Given the description of an element on the screen output the (x, y) to click on. 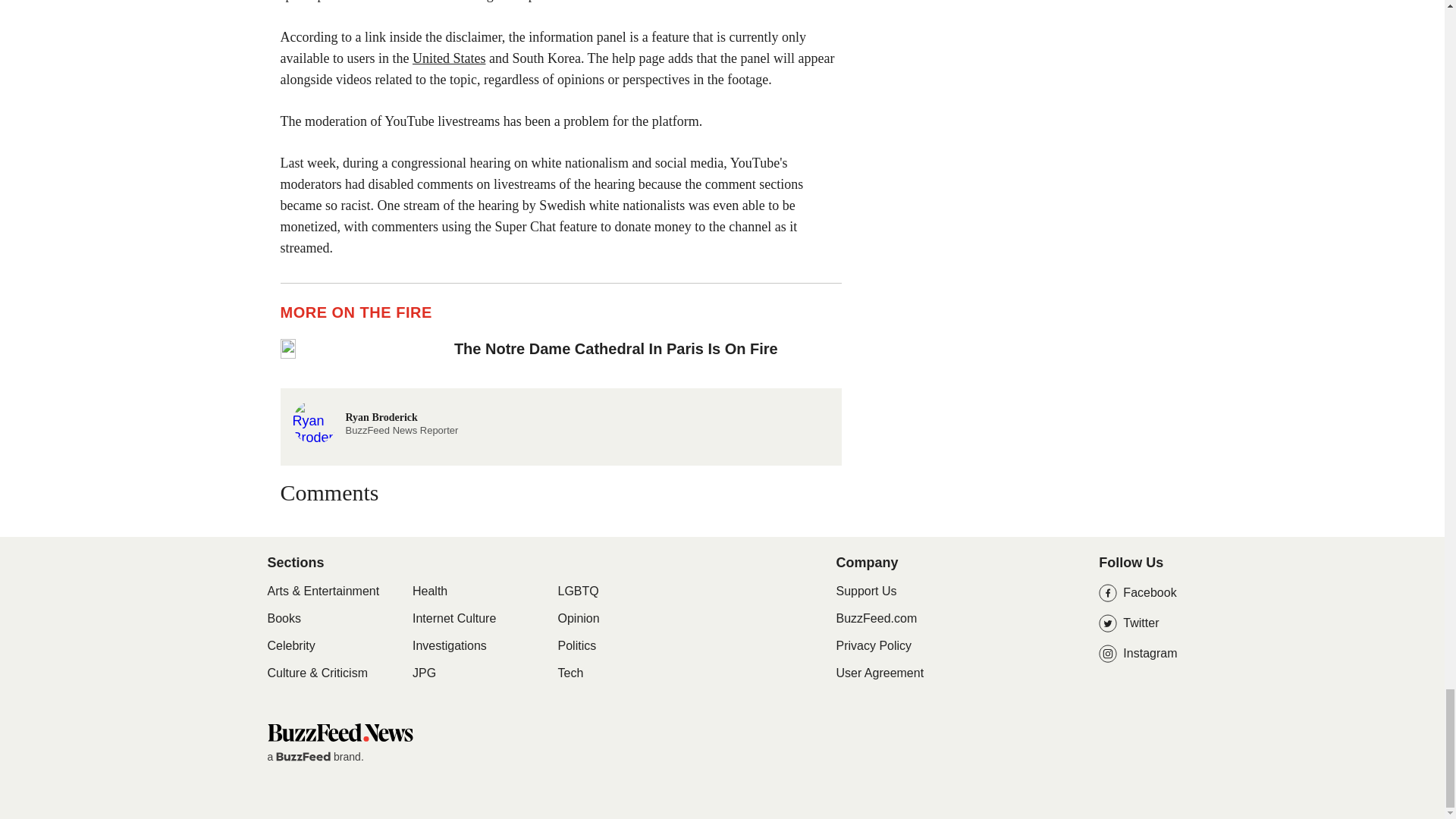
United States (449, 58)
BuzzFeed News Home (339, 732)
BuzzFeed (303, 756)
